Given the description of an element on the screen output the (x, y) to click on. 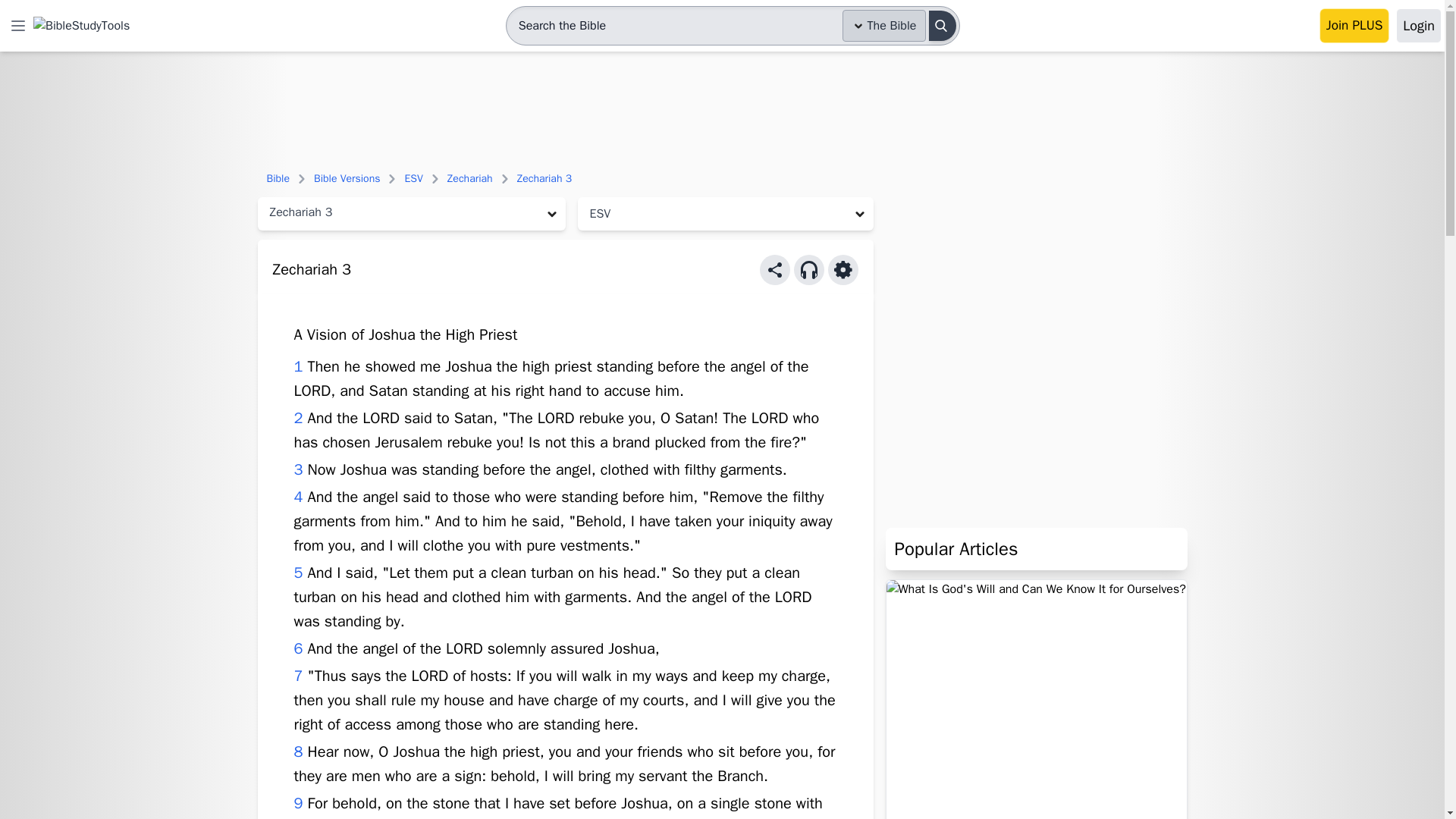
The Bible (884, 25)
Scripture Settings (843, 269)
Login (1418, 25)
Join PLUS (1354, 26)
Audio Bible (808, 269)
